Given the description of an element on the screen output the (x, y) to click on. 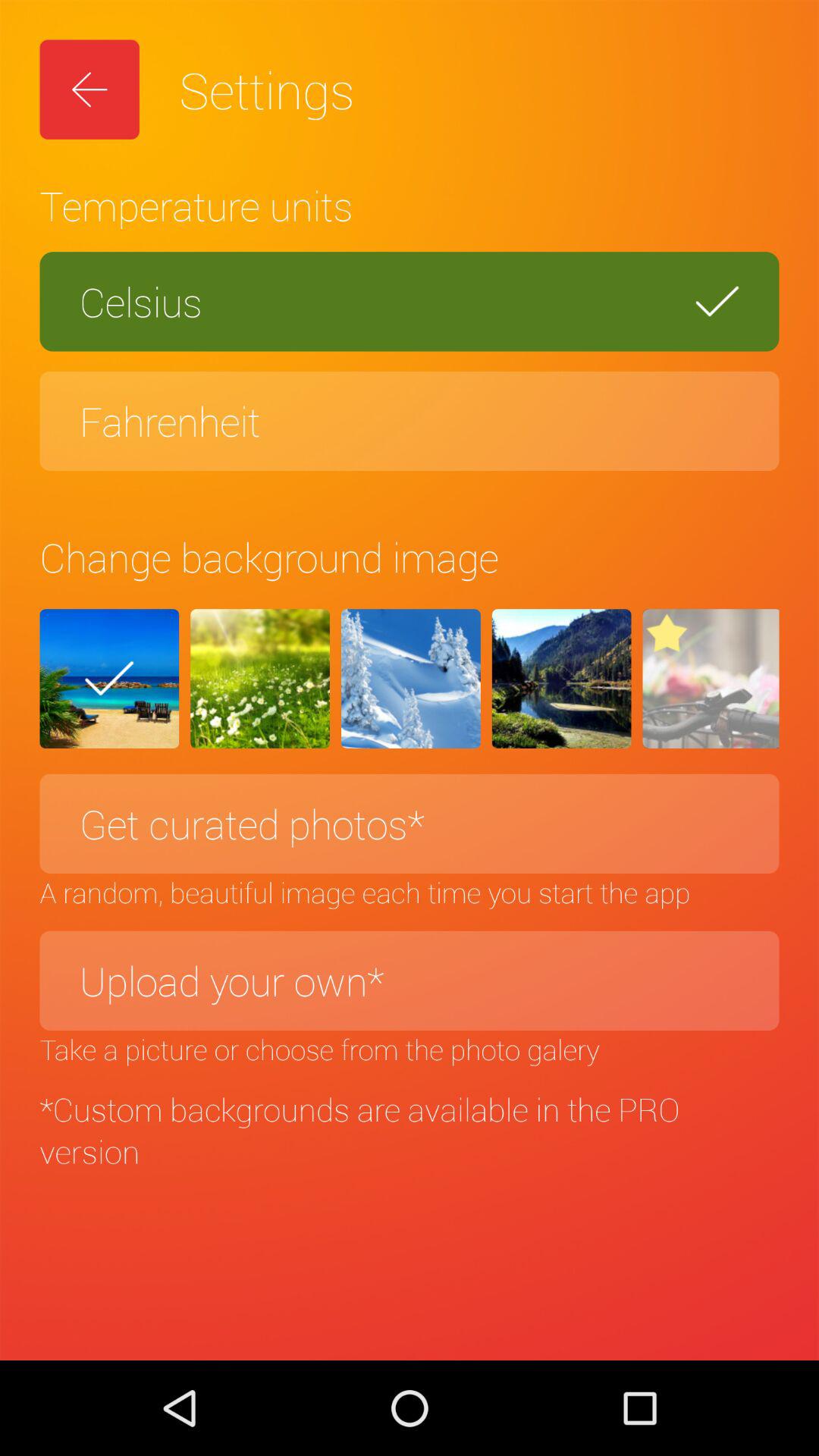
press icon above get curated photos* item (410, 678)
